Given the description of an element on the screen output the (x, y) to click on. 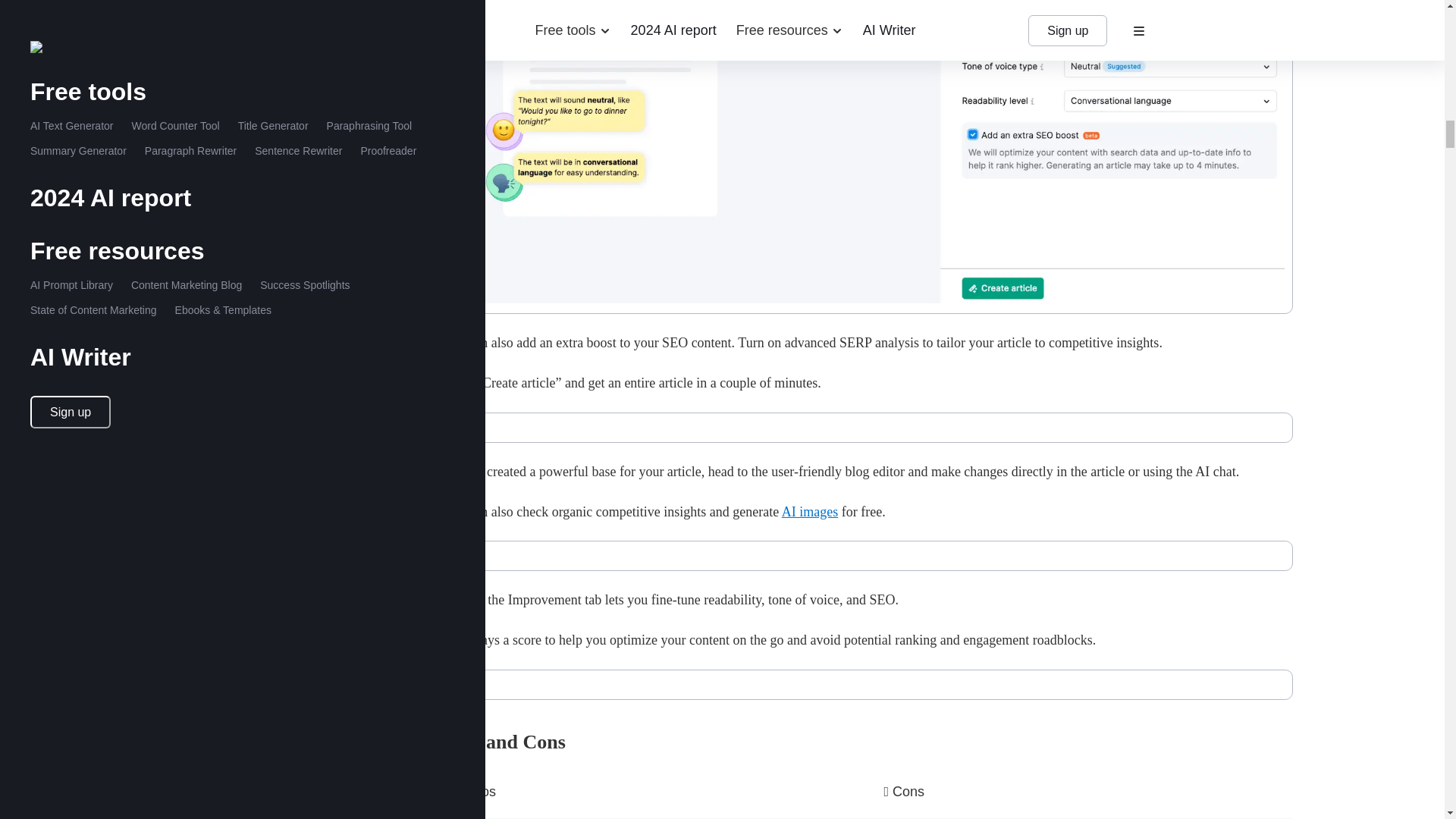
AI images (809, 511)
